Given the description of an element on the screen output the (x, y) to click on. 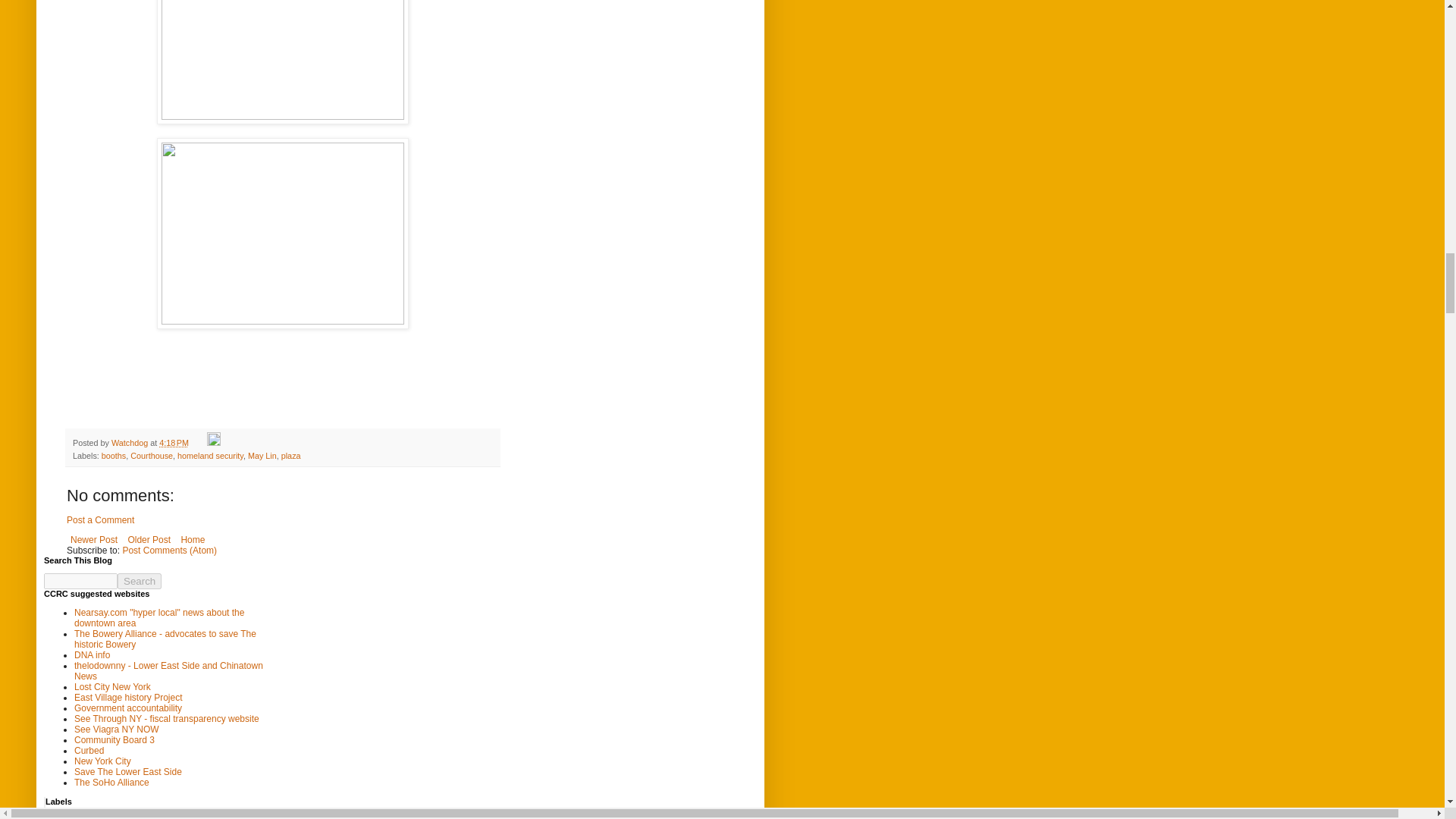
plaza (291, 455)
Search (139, 580)
Search (139, 580)
Lost City New York (112, 686)
Watchdog (130, 442)
Newer Post (93, 539)
Older Post (148, 539)
Nearsay.com "hyper local" news about the downtown area (159, 617)
DNA info (92, 655)
Newer Post (93, 539)
search (139, 580)
Courthouse (152, 455)
Home (192, 539)
permanent link (173, 442)
Search (139, 580)
